Given the description of an element on the screen output the (x, y) to click on. 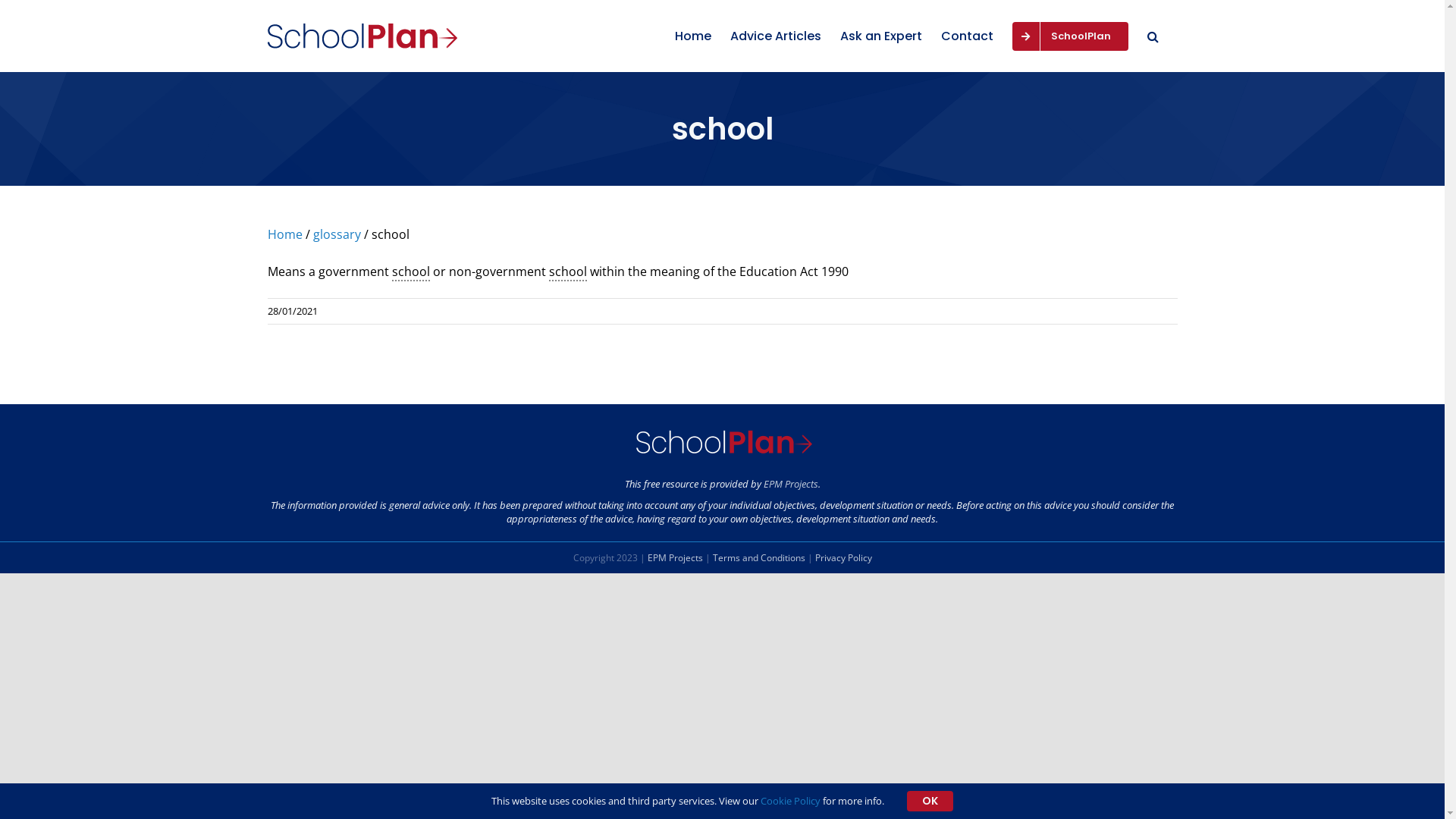
EPM Projects Element type: text (674, 557)
Home Element type: text (692, 36)
OK Element type: text (929, 800)
Search Element type: hover (1151, 36)
glossary Element type: text (336, 233)
Contact Element type: text (966, 36)
EPM Projects Element type: text (789, 483)
Cookie Policy Element type: text (790, 800)
Ask an Expert Element type: text (881, 36)
Home Element type: text (283, 233)
Privacy Policy Element type: text (842, 557)
Terms and Conditions Element type: text (758, 557)
SchoolPlan Element type: text (1069, 36)
Advice Articles Element type: text (774, 36)
